Given the description of an element on the screen output the (x, y) to click on. 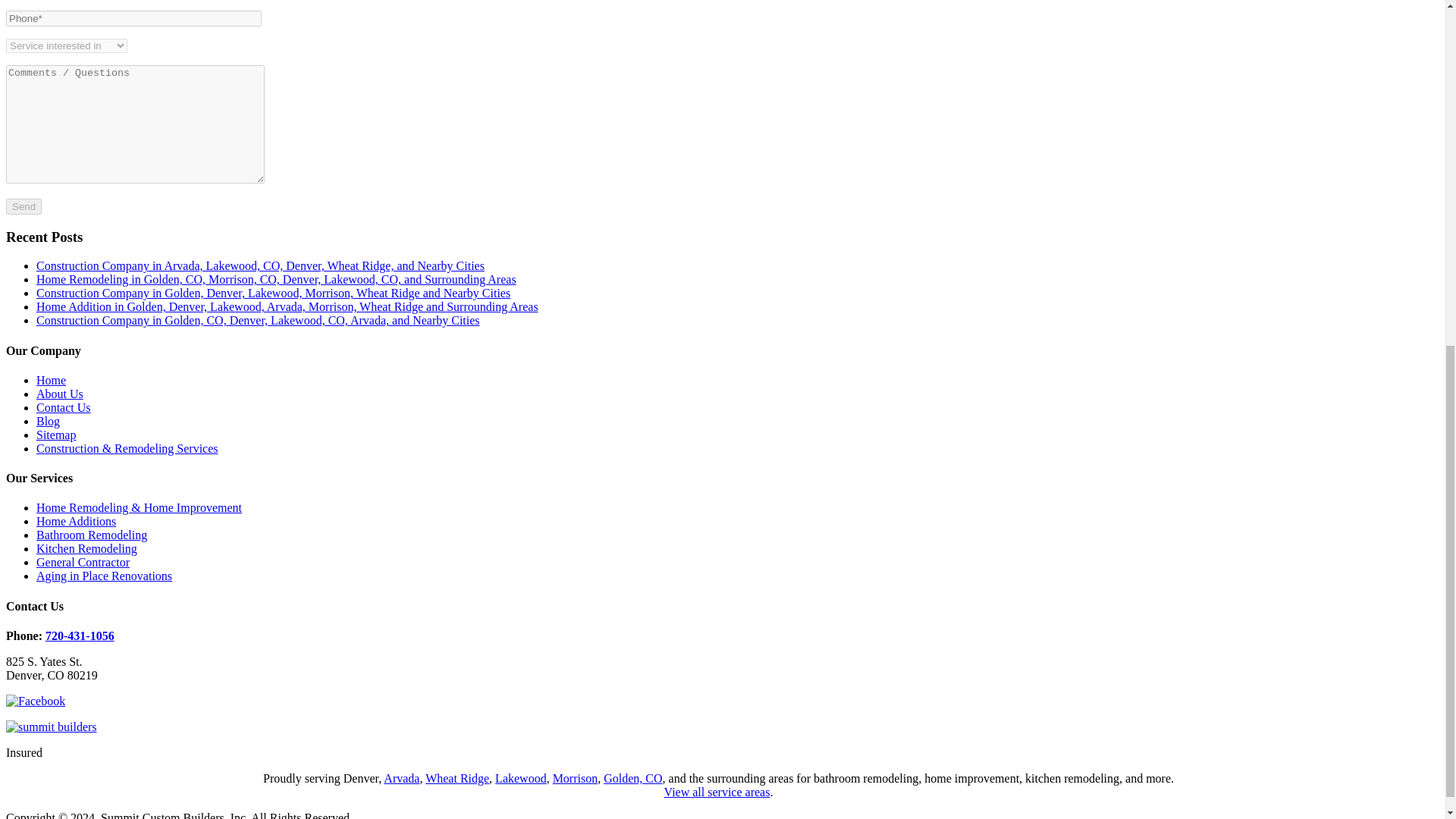
Home (50, 379)
Send (23, 206)
Aging in Place Renovations (103, 575)
Arvada (401, 778)
Morrison (575, 778)
Lakewood (521, 778)
General Contractor (82, 562)
